Given the description of an element on the screen output the (x, y) to click on. 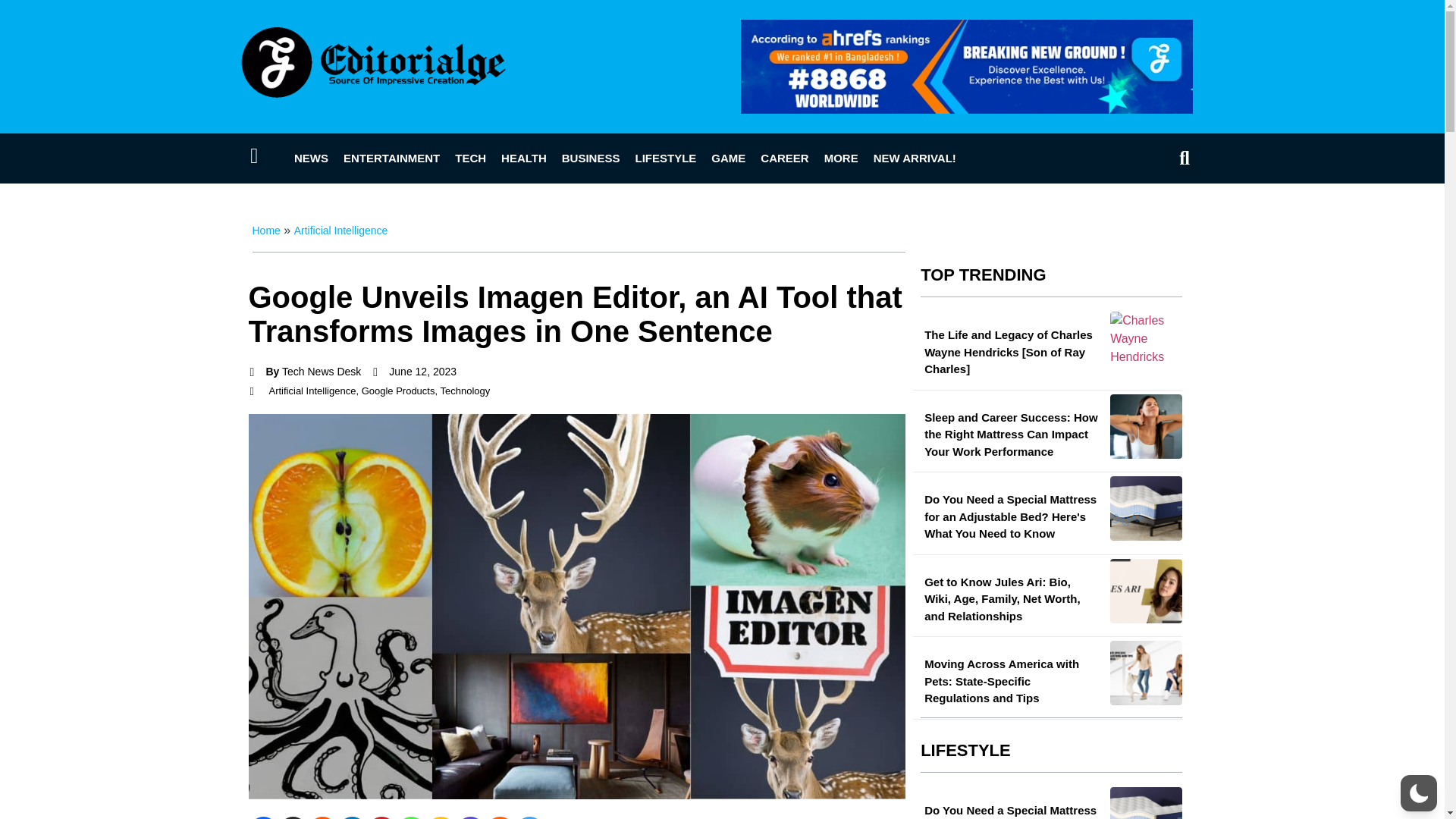
X (292, 817)
GAME (727, 158)
Reddit (322, 817)
Telegram (528, 817)
Print (499, 817)
ENTERTAINMENT (391, 158)
Copy Link (441, 817)
BUSINESS (590, 158)
Facebook (263, 817)
NEWS (311, 158)
HEALTH (523, 158)
Pinterest (381, 817)
CAREER (783, 158)
Linkedin (351, 817)
Whatsapp (410, 817)
